Given the description of an element on the screen output the (x, y) to click on. 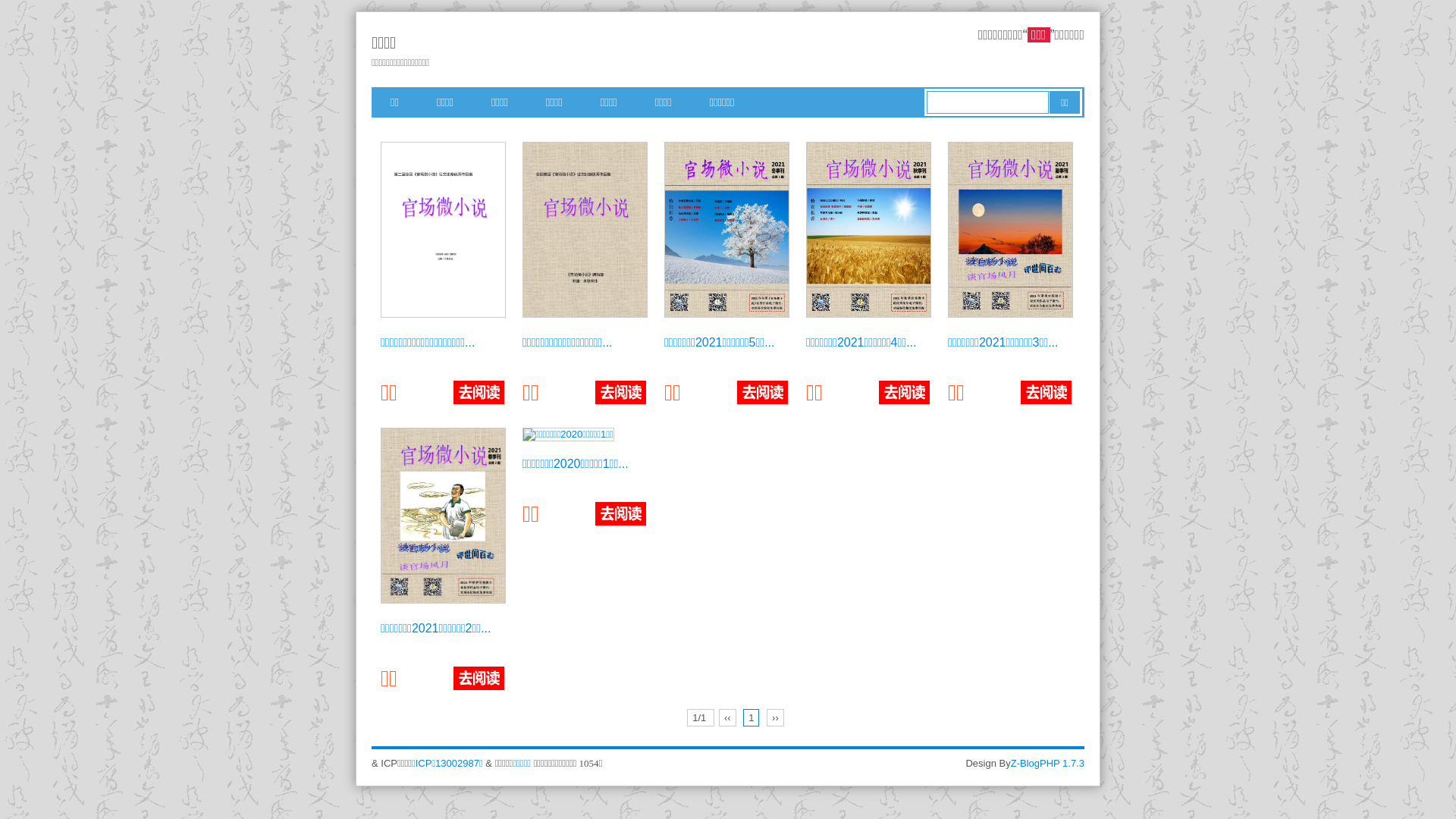
Z-BlogPHP 1.7.3 Element type: text (1047, 762)
